Given the description of an element on the screen output the (x, y) to click on. 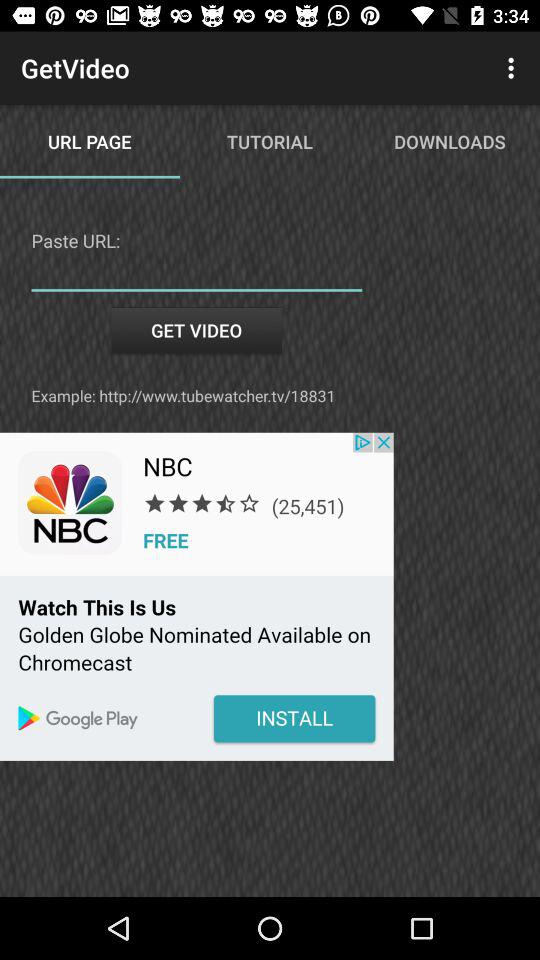
download video (196, 276)
